Given the description of an element on the screen output the (x, y) to click on. 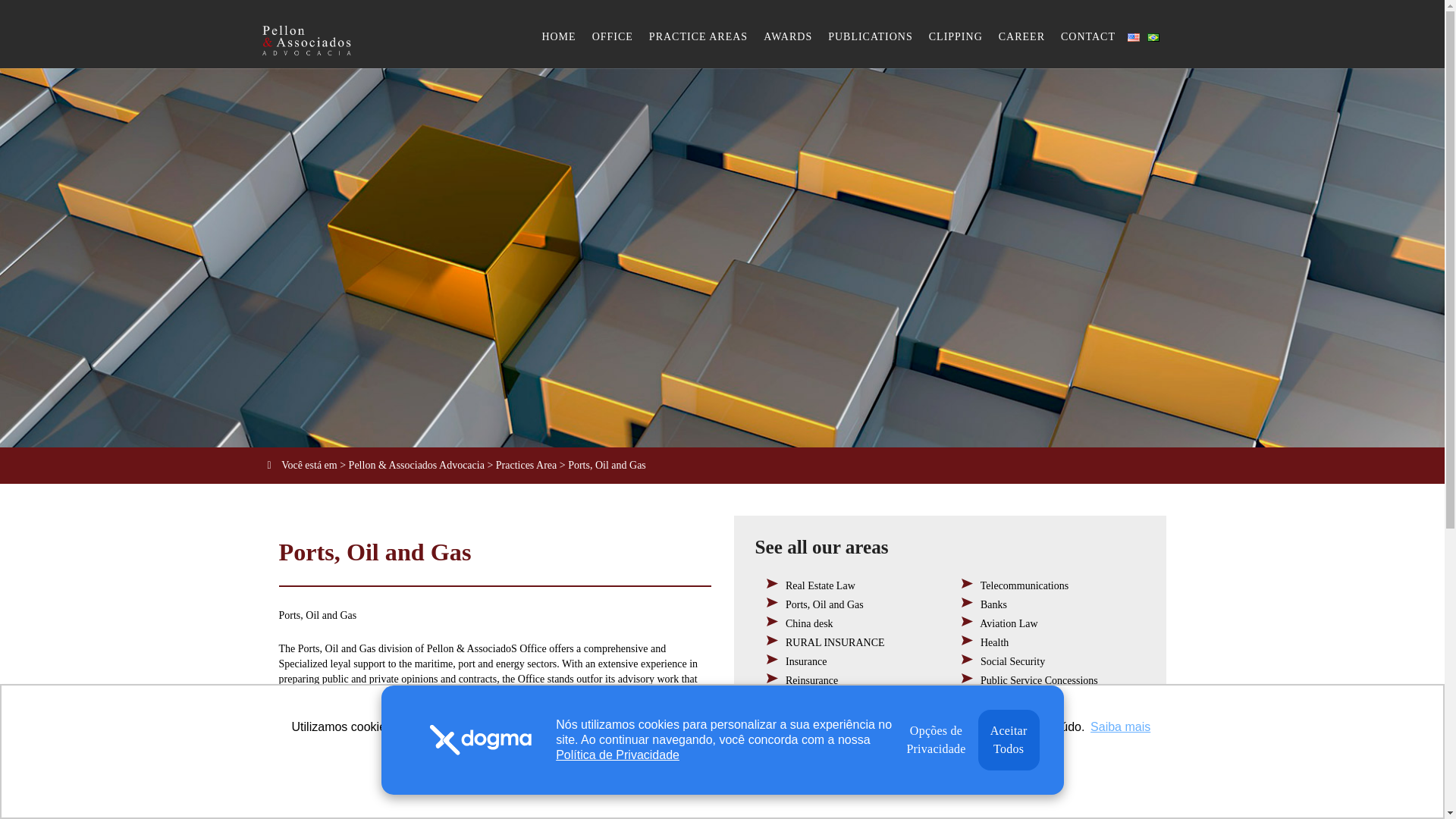
OFFICE (612, 37)
HOME (558, 37)
Recusar Cookies (665, 771)
Health (994, 642)
Real Estate Law (821, 585)
PRACTICE AREAS (698, 37)
Corporate Law (817, 733)
Reinsurance (812, 680)
RURAL INSURANCE (835, 642)
Office (612, 37)
Aceitar Cookies (779, 771)
AWARDS (787, 37)
Aviation Law (1007, 623)
CAREER (1021, 37)
Banks (993, 604)
